Given the description of an element on the screen output the (x, y) to click on. 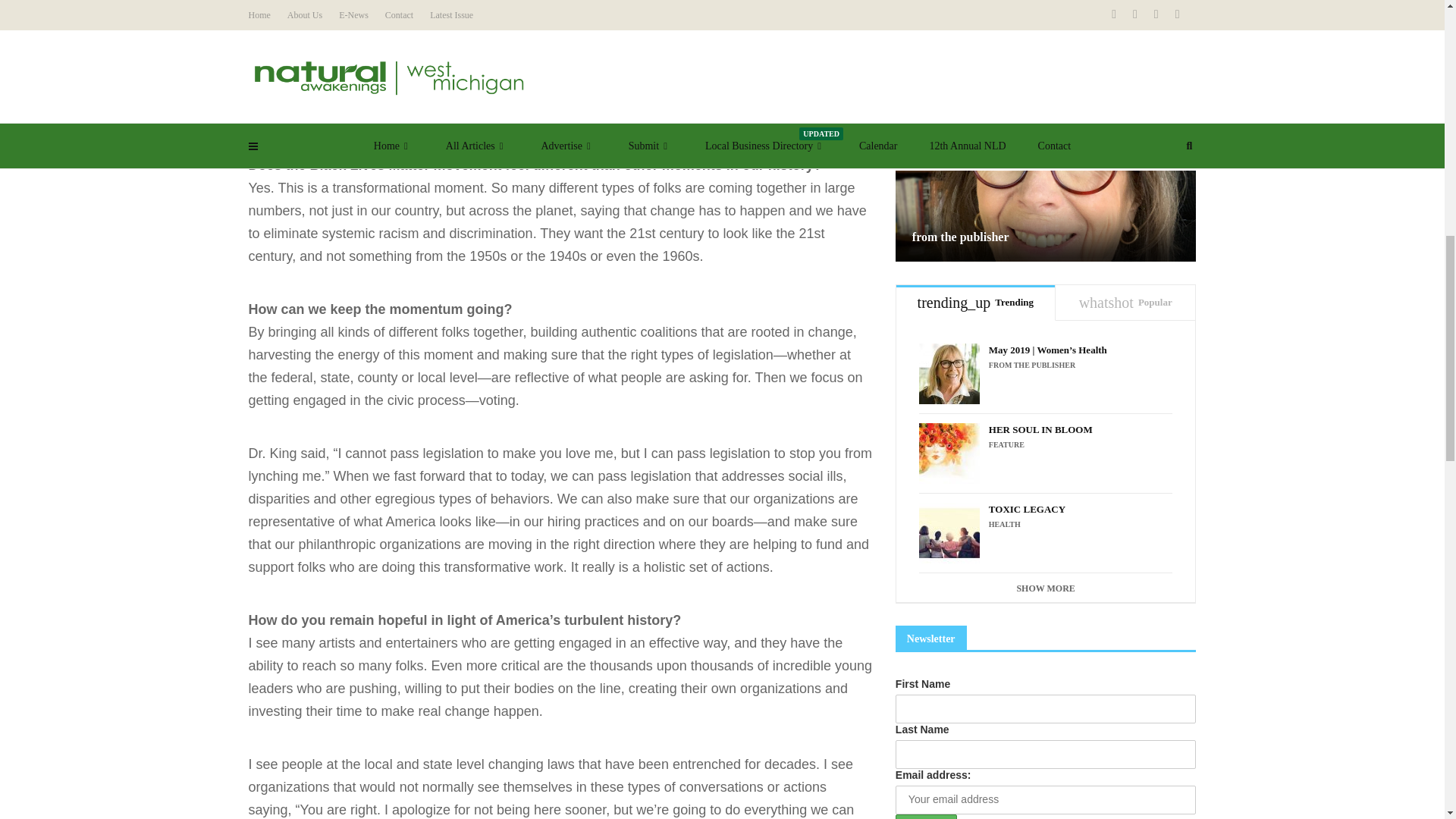
Sign up (925, 816)
